Given the description of an element on the screen output the (x, y) to click on. 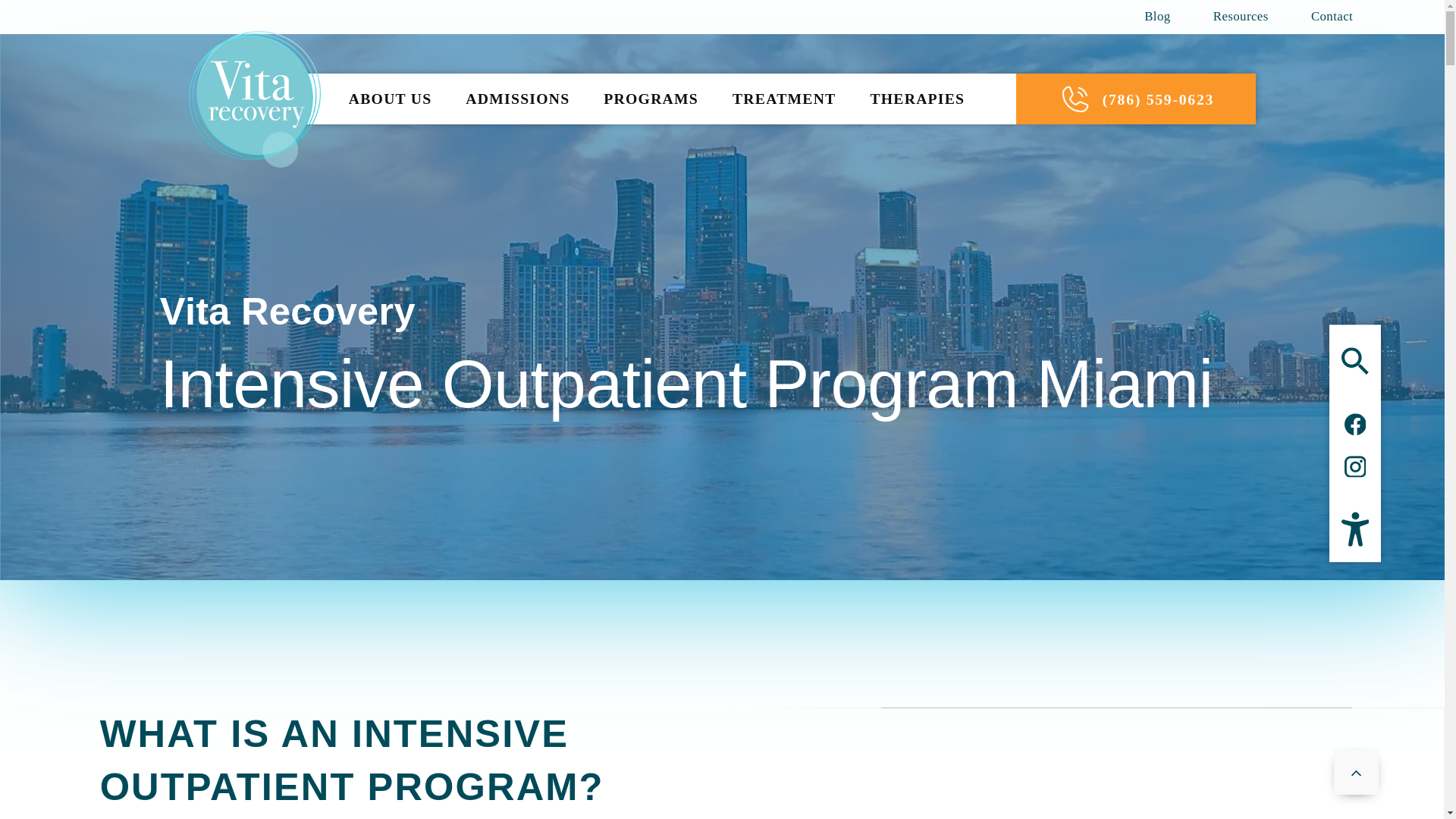
THERAPIES (917, 99)
Instagram (1354, 466)
ABOUT US (389, 99)
TREATMENT (784, 99)
Resources (1241, 16)
PROGRAMS (651, 99)
Blog (1168, 16)
Facebook (1354, 424)
ADMISSIONS (517, 99)
Contact (1321, 16)
